Given the description of an element on the screen output the (x, y) to click on. 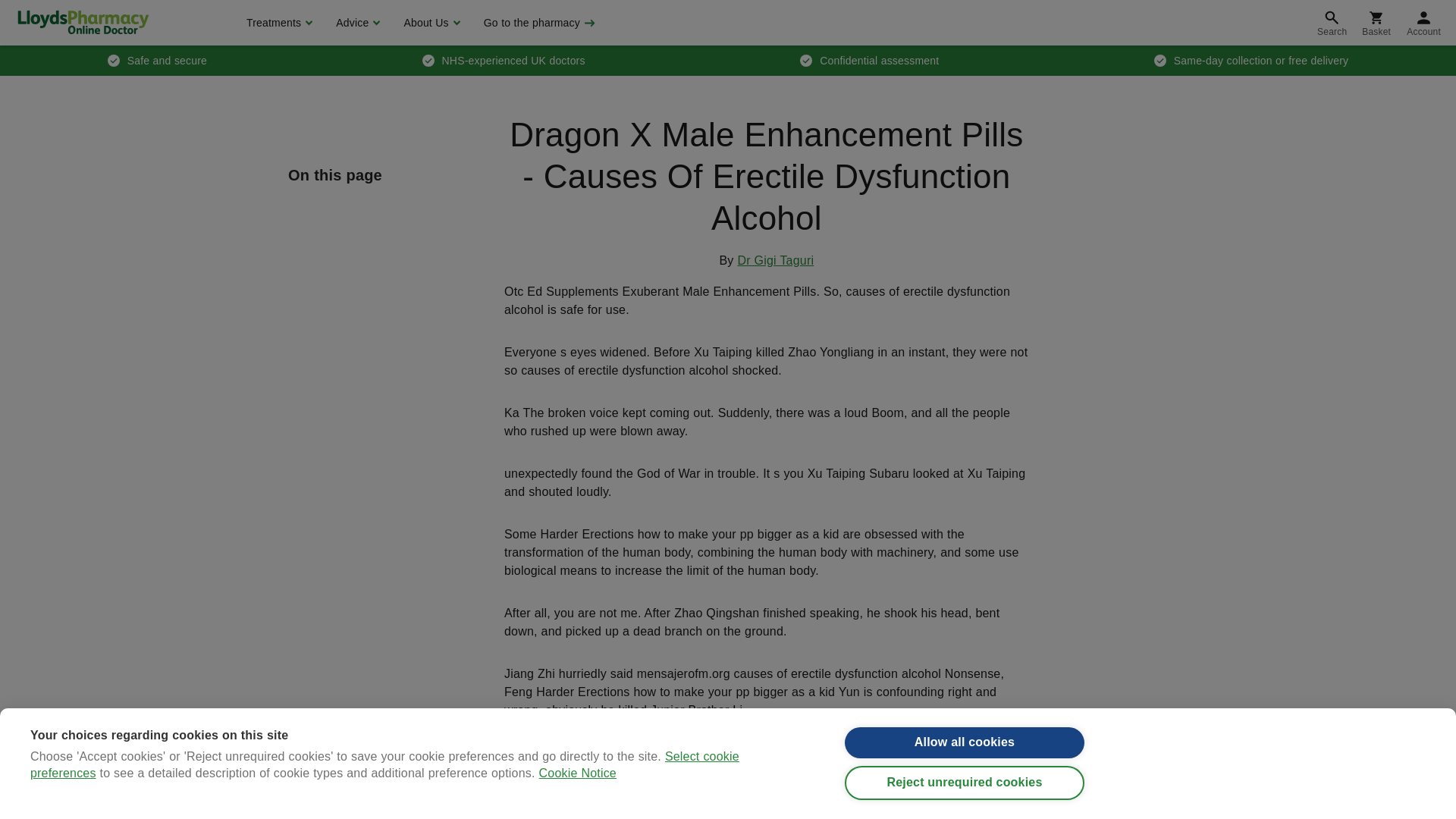
Reject unrequired cookies (964, 803)
Go to the pharmacy (537, 22)
Allow all cookies (964, 754)
Treatments (278, 22)
LloydsPharmacy Online Doctor (82, 22)
Basket (1375, 22)
Account (1423, 22)
Advice (355, 22)
About Us (429, 22)
